Given the description of an element on the screen output the (x, y) to click on. 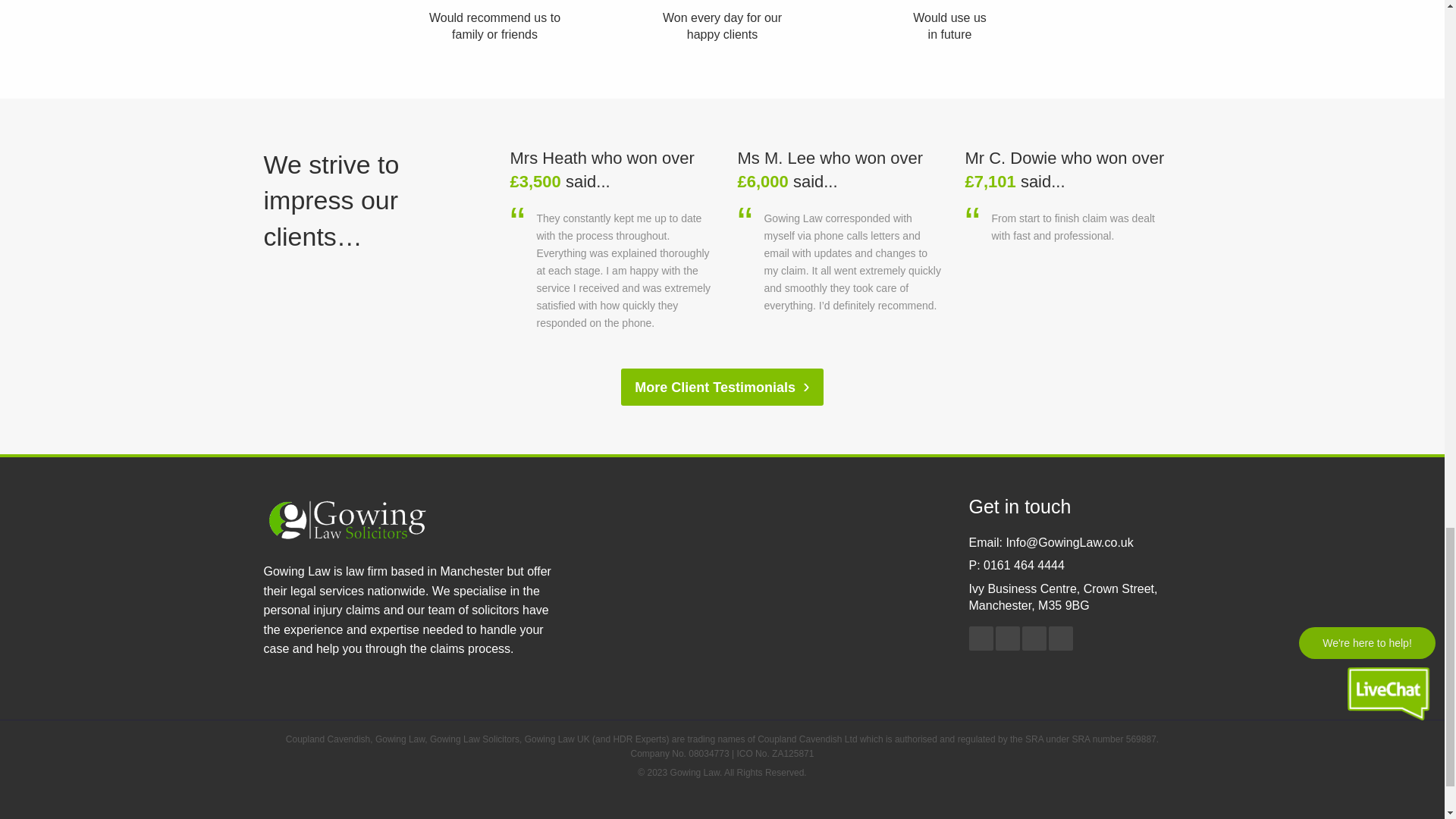
Twitter (1034, 638)
LinkedIn (1006, 638)
YouTube (1059, 638)
Facebook (980, 638)
